Given the description of an element on the screen output the (x, y) to click on. 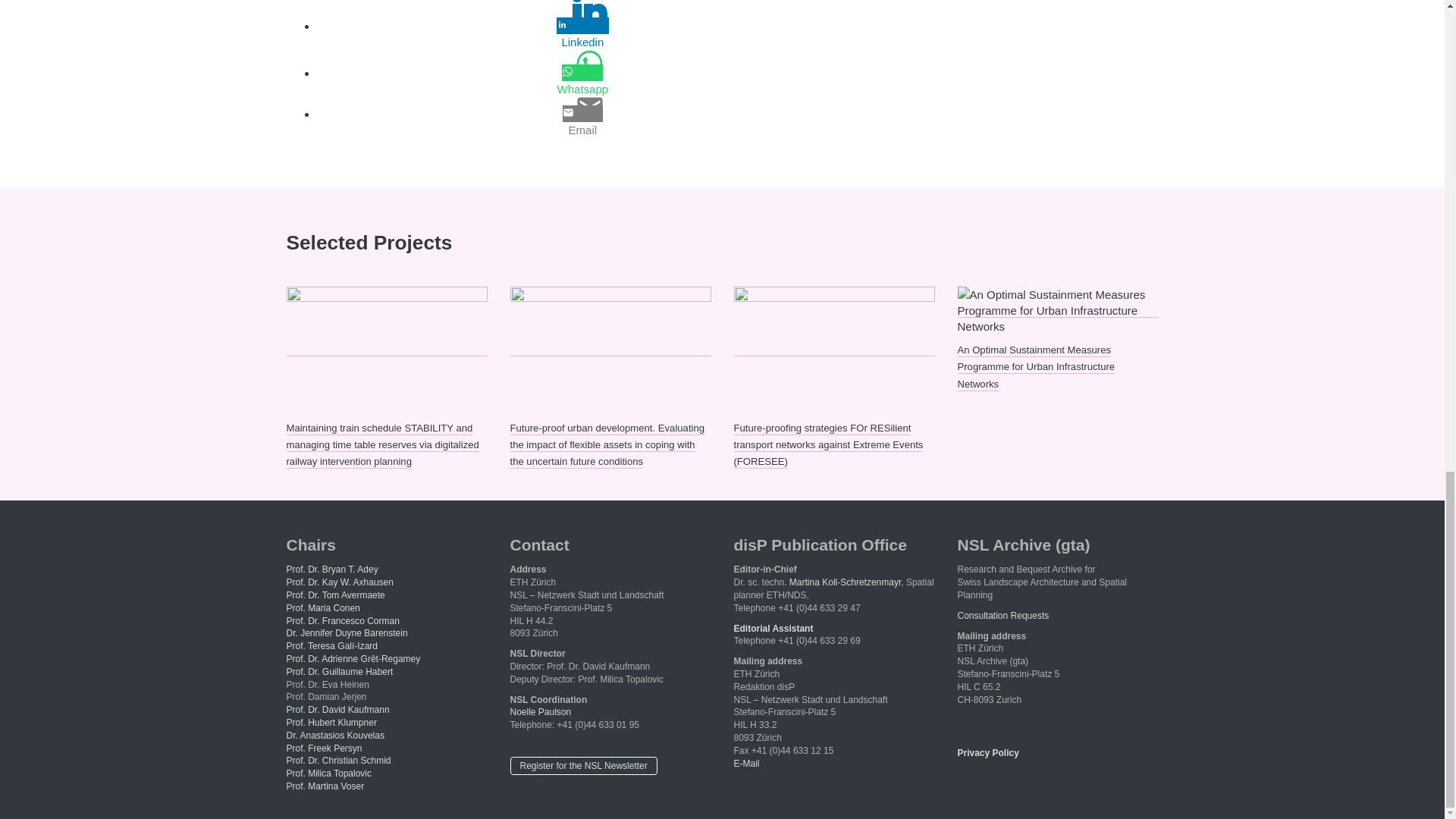
Email (582, 130)
Linkedin (582, 41)
Whatsapp (582, 89)
